Given the description of an element on the screen output the (x, y) to click on. 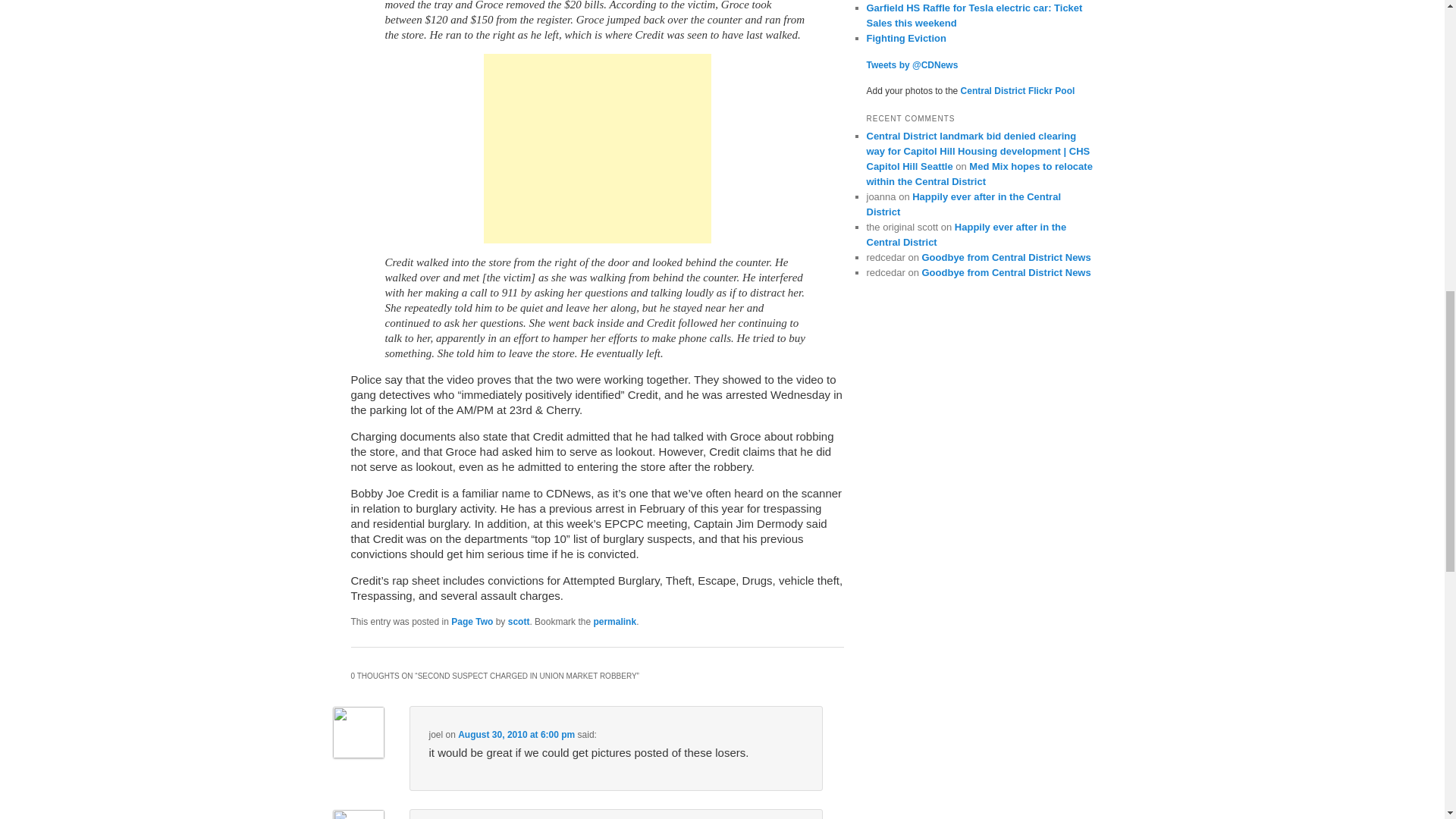
permalink (614, 621)
August 30, 2010 at 6:00 pm (516, 734)
Permalink to Second suspect charged in Union Market robbery (614, 621)
Page Two (472, 621)
Central District Flickr Pool (1017, 90)
Advertisement (597, 148)
Goodbye from Central District News (1005, 256)
Med Mix hopes to relocate within the Central District (979, 173)
Fighting Eviction (905, 38)
